Given the description of an element on the screen output the (x, y) to click on. 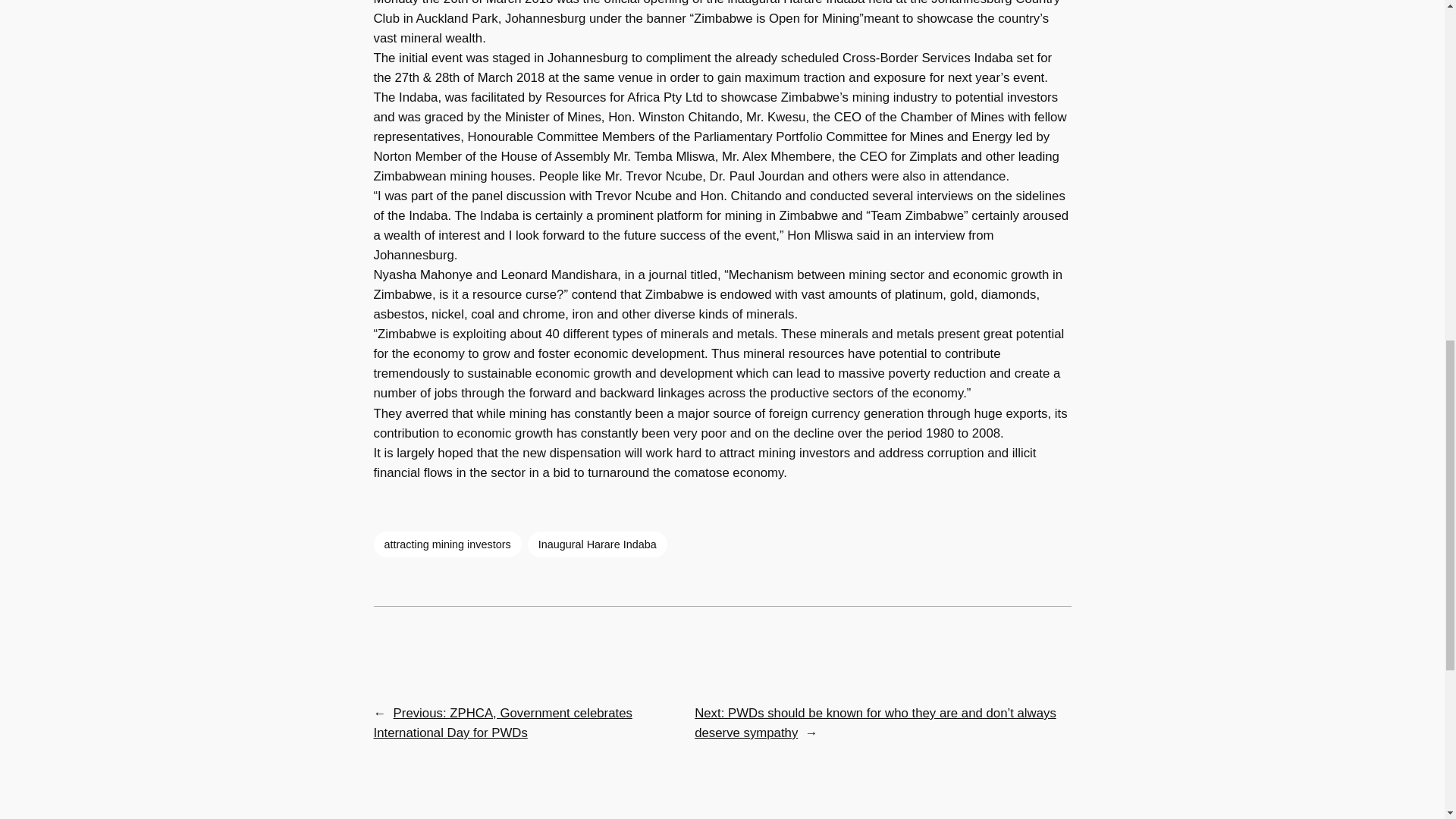
attracting mining investors (446, 544)
Inaugural Harare Indaba (596, 544)
